Given the description of an element on the screen output the (x, y) to click on. 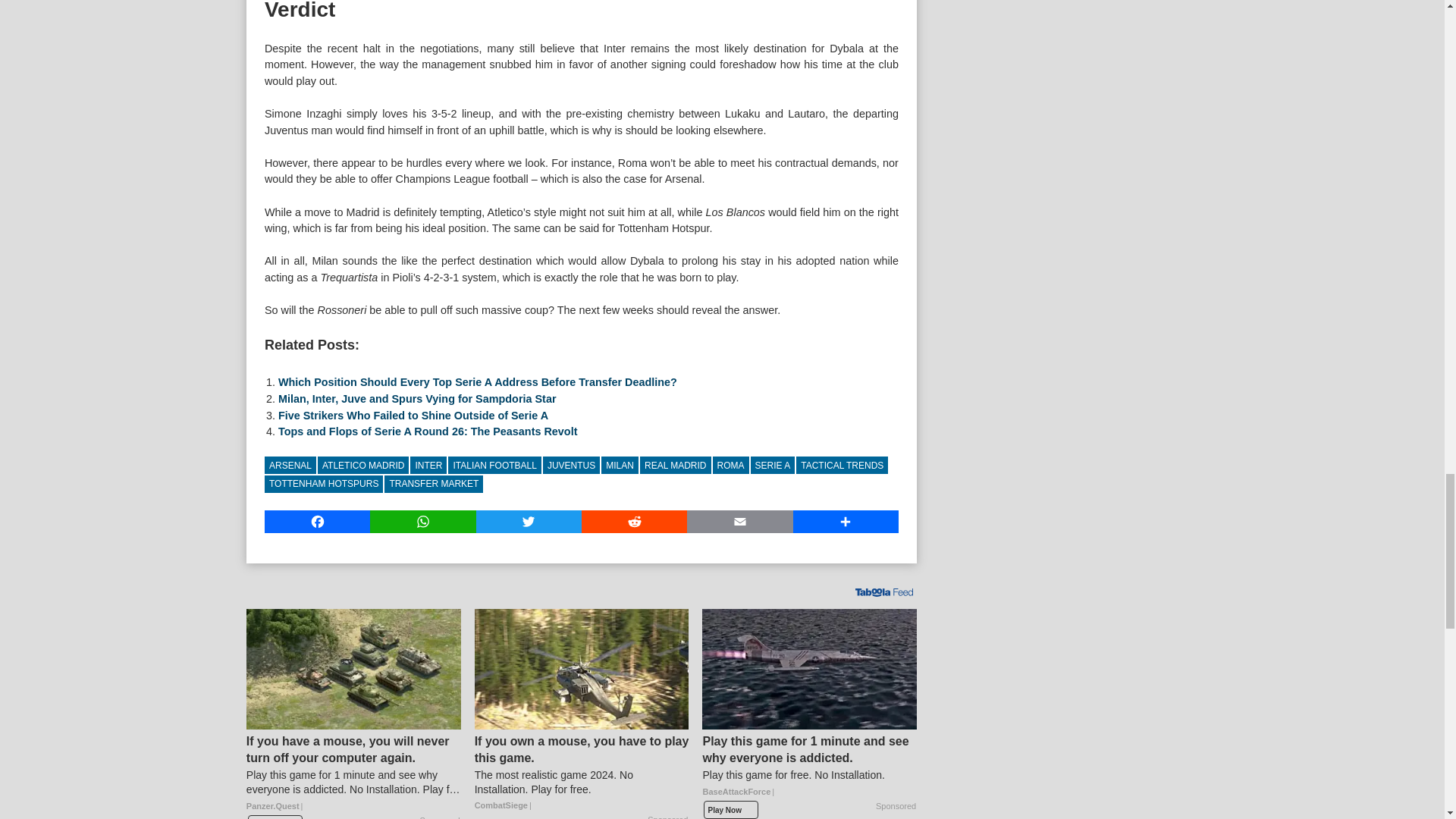
Email (739, 521)
Five Strikers Who Failed to Shine Outside of Serie A (413, 415)
Reddit (633, 521)
Twitter (528, 521)
WhatsApp (422, 521)
Tops and Flops of Serie A Round 26: The Peasants Revolt (427, 431)
Facebook (316, 521)
Milan, Inter, Juve and Spurs Vying for Sampdoria Star (417, 398)
